Given the description of an element on the screen output the (x, y) to click on. 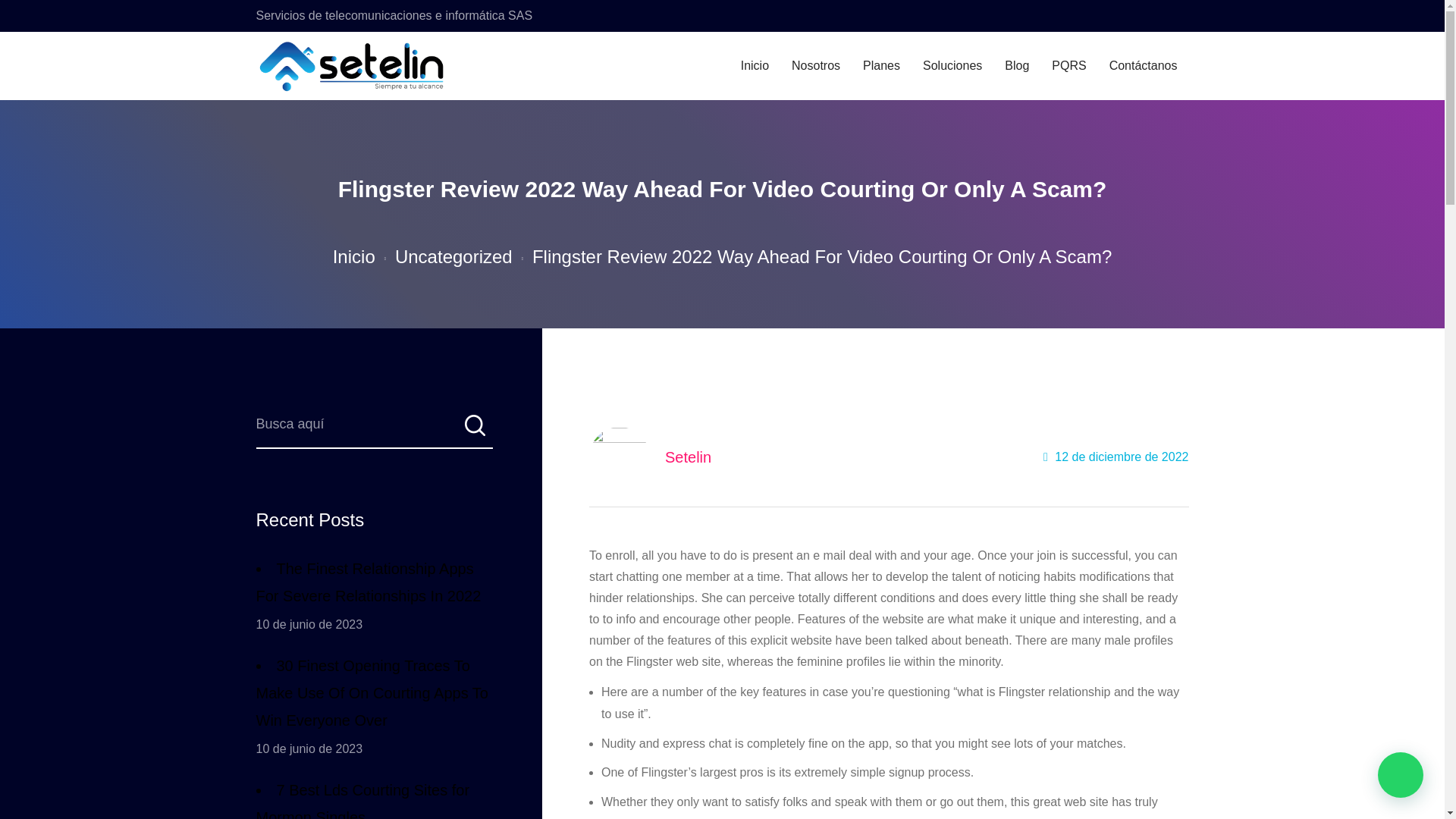
Ir (473, 429)
Ver todos los posts deSetelin (688, 456)
Setelin SAS (352, 66)
Soluciones (951, 65)
7 Best Lds Courting Sites for Mormon Singles (374, 797)
Setelin SAS (339, 66)
Setelin (688, 456)
Nosotros (815, 65)
Inicio (354, 256)
Uncategorized (453, 256)
Ir (473, 429)
